Given the description of an element on the screen output the (x, y) to click on. 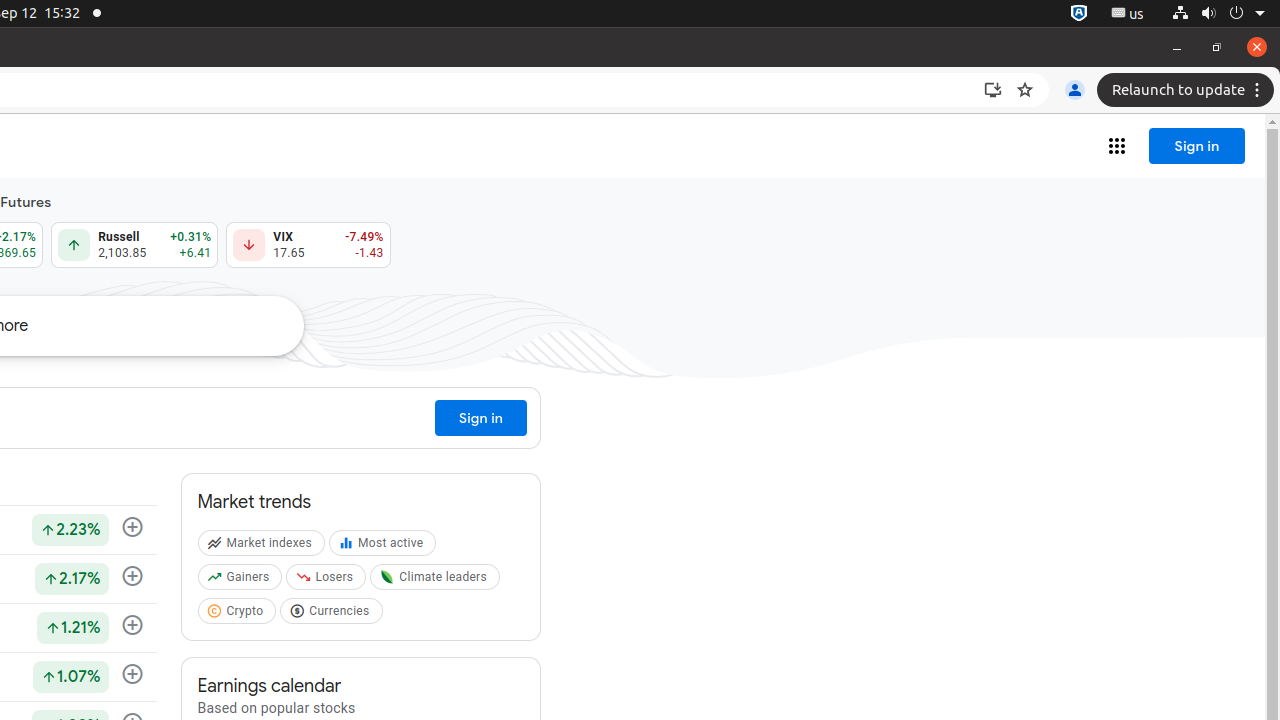
Most active Element type: link (385, 547)
VIX 17.65 Down by 7.49% -1.43 Element type: link (308, 245)
Sign in Element type: push-button (481, 417)
Relaunch to update Element type: push-button (1188, 90)
Sign in Element type: link (1197, 146)
